Given the description of an element on the screen output the (x, y) to click on. 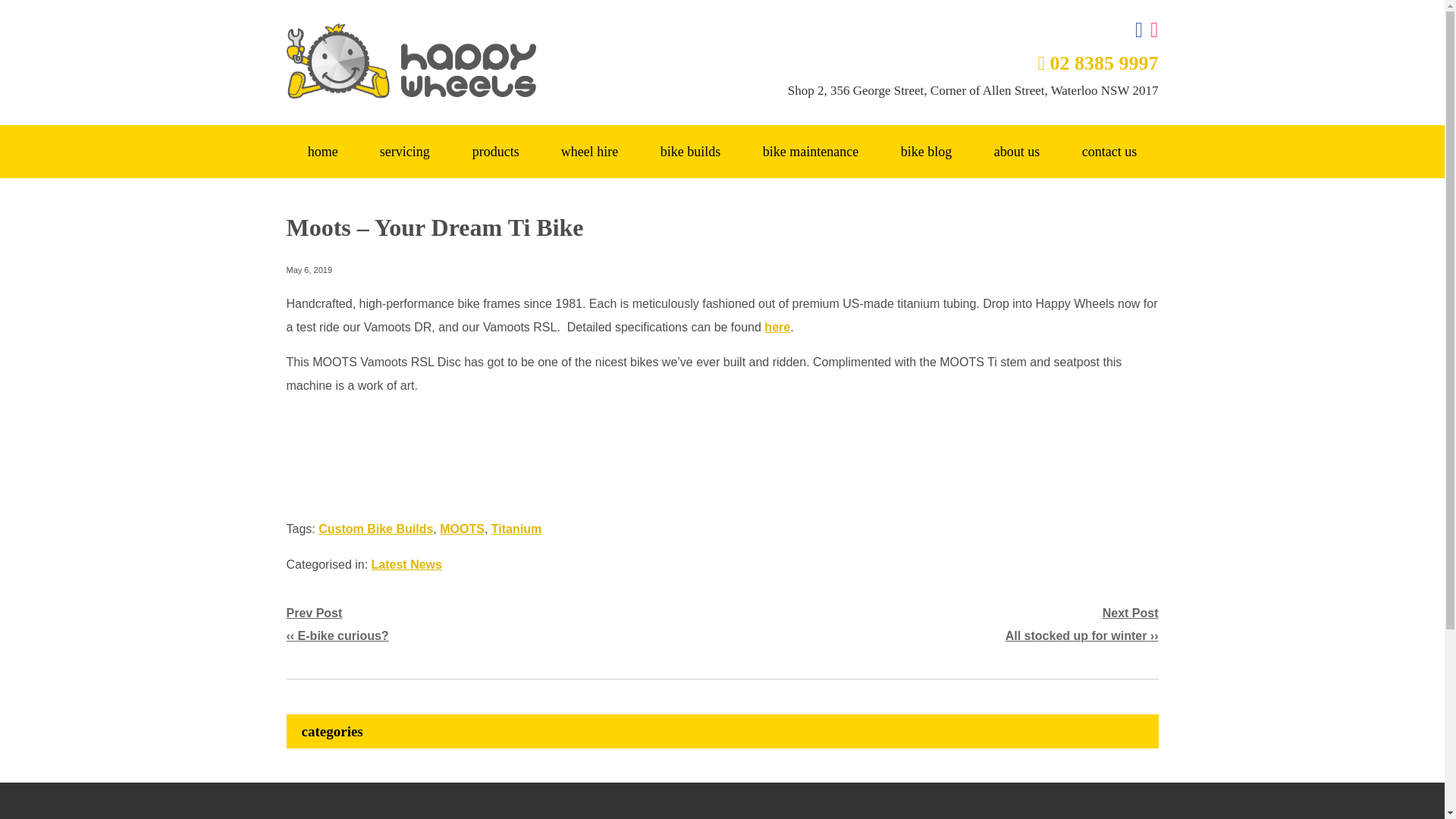
contact us (1109, 151)
02 8385 9997 (1096, 63)
Titanium (516, 528)
here (777, 327)
products (495, 151)
bike maintenance (810, 151)
bike builds (690, 151)
MOOTS (461, 528)
about us (1016, 151)
wheel hire (589, 151)
Happy Wheels (504, 60)
home (322, 151)
servicing (404, 151)
bike blog (925, 151)
